Given the description of an element on the screen output the (x, y) to click on. 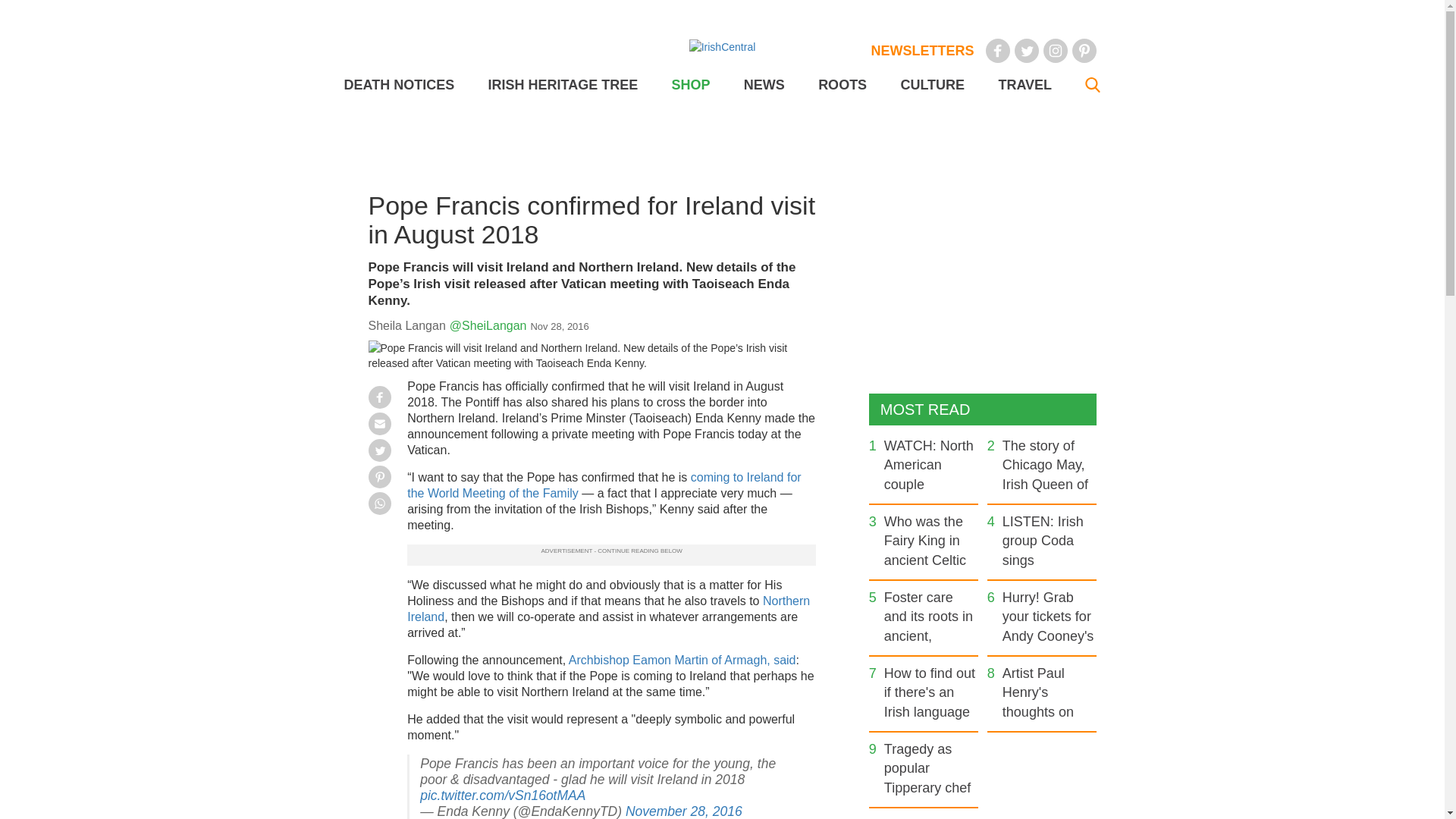
ROOTS (842, 84)
IRISH HERITAGE TREE (562, 84)
DEATH NOTICES (398, 84)
SHOP (690, 84)
NEWSLETTERS (922, 50)
TRAVEL (1024, 84)
NEWS (764, 84)
CULTURE (931, 84)
